Given the description of an element on the screen output the (x, y) to click on. 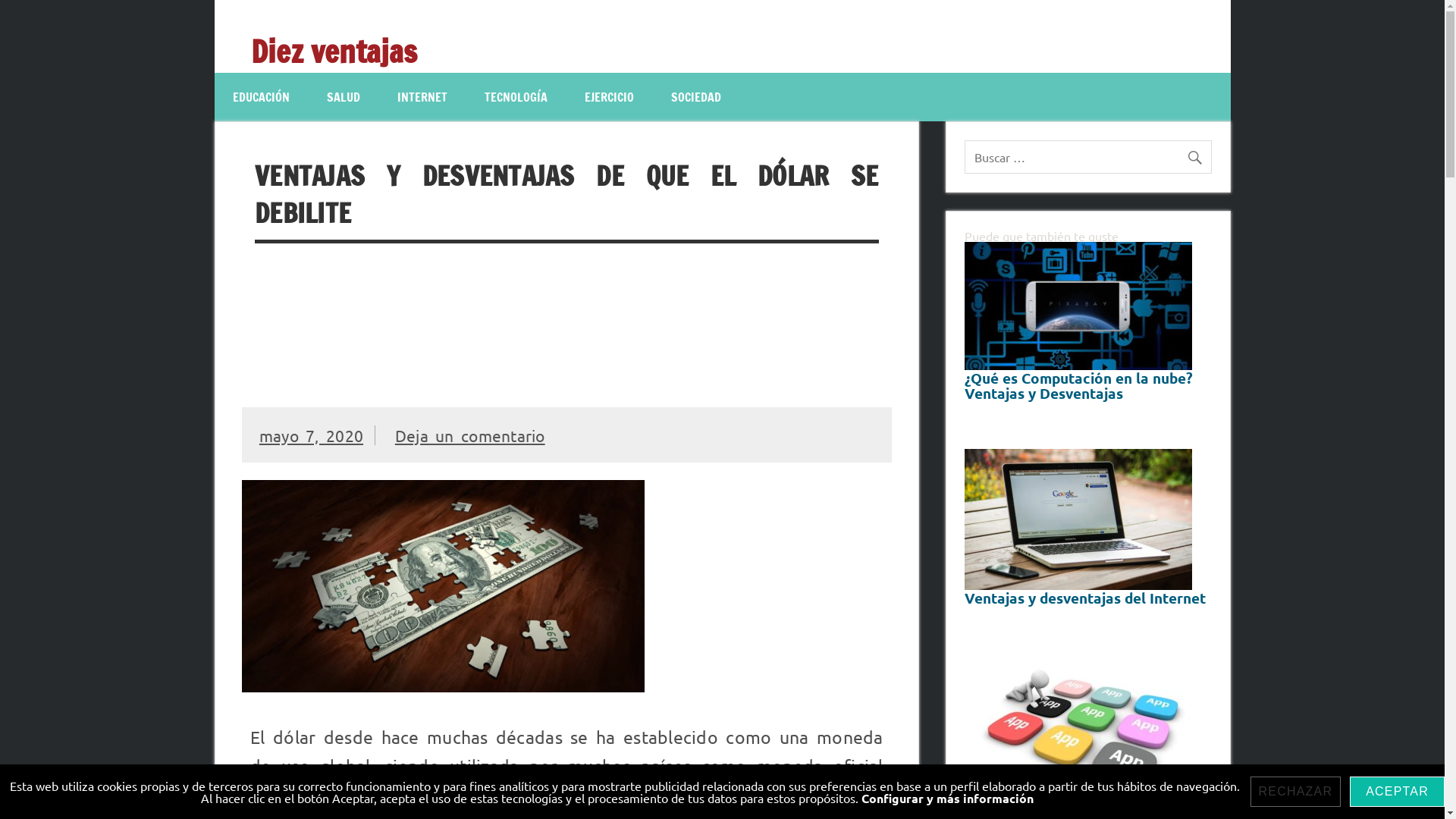
INTERNET Element type: text (422, 96)
mayo 7, 2020 Element type: text (311, 435)
Diez ventajas Element type: text (333, 50)
SALUD Element type: text (342, 96)
Deja un comentario Element type: text (470, 435)
SOCIEDAD Element type: text (695, 96)
ACEPTAR Element type: text (1396, 791)
Advertisement Element type: hover (566, 325)
EJERCICIO Element type: text (608, 96)
RECHAZAR Element type: text (1295, 791)
Ventajas y desventajas del Internet Element type: text (1087, 550)
